Given the description of an element on the screen output the (x, y) to click on. 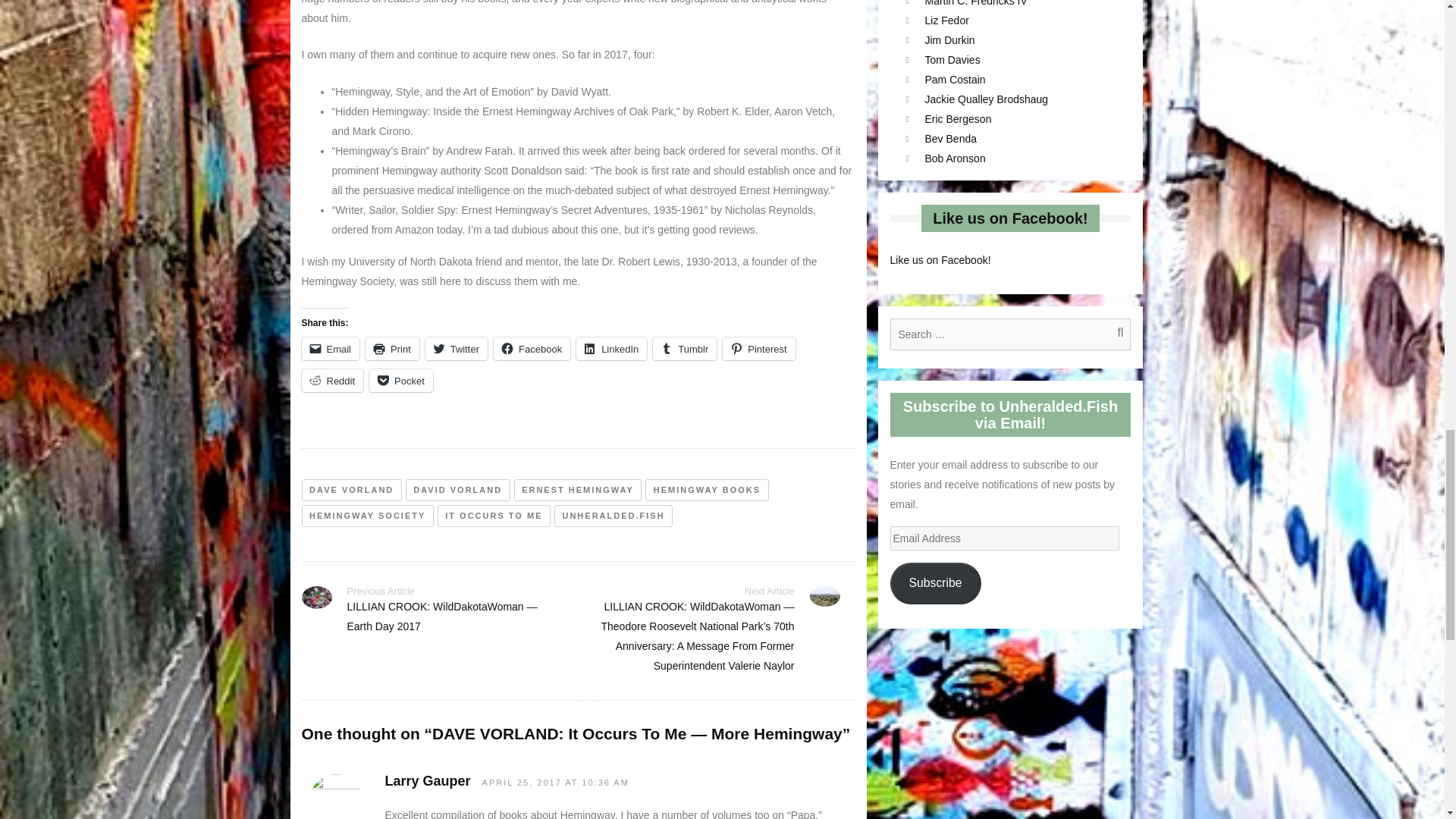
Print (392, 348)
HEMINGWAY SOCIETY (367, 516)
IT OCCURS TO ME (494, 516)
DAVE VORLAND (351, 490)
Pinterest (758, 348)
Click to share on Twitter (456, 348)
Click to share on LinkedIn (611, 348)
Tumblr (684, 348)
Click to share on Reddit (332, 380)
Search (1112, 333)
